Given the description of an element on the screen output the (x, y) to click on. 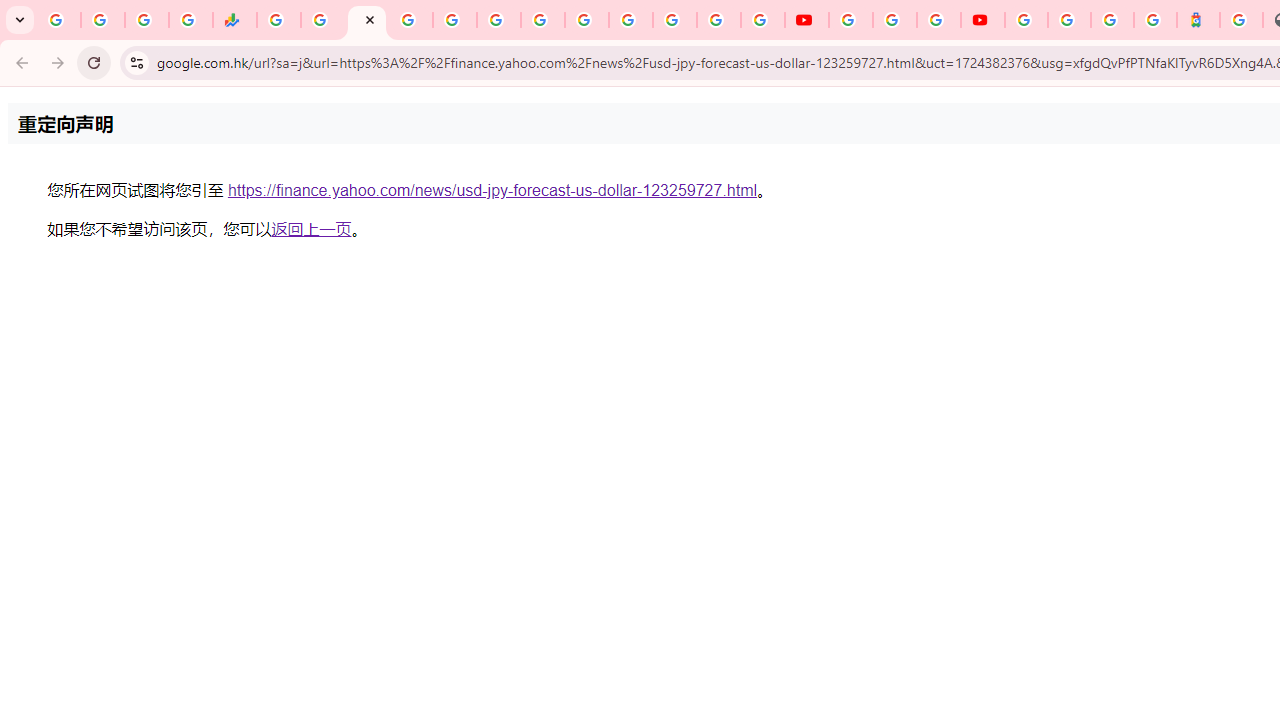
Google Account Help (894, 20)
Sign in - Google Accounts (630, 20)
Privacy Checkup (762, 20)
